Given the description of an element on the screen output the (x, y) to click on. 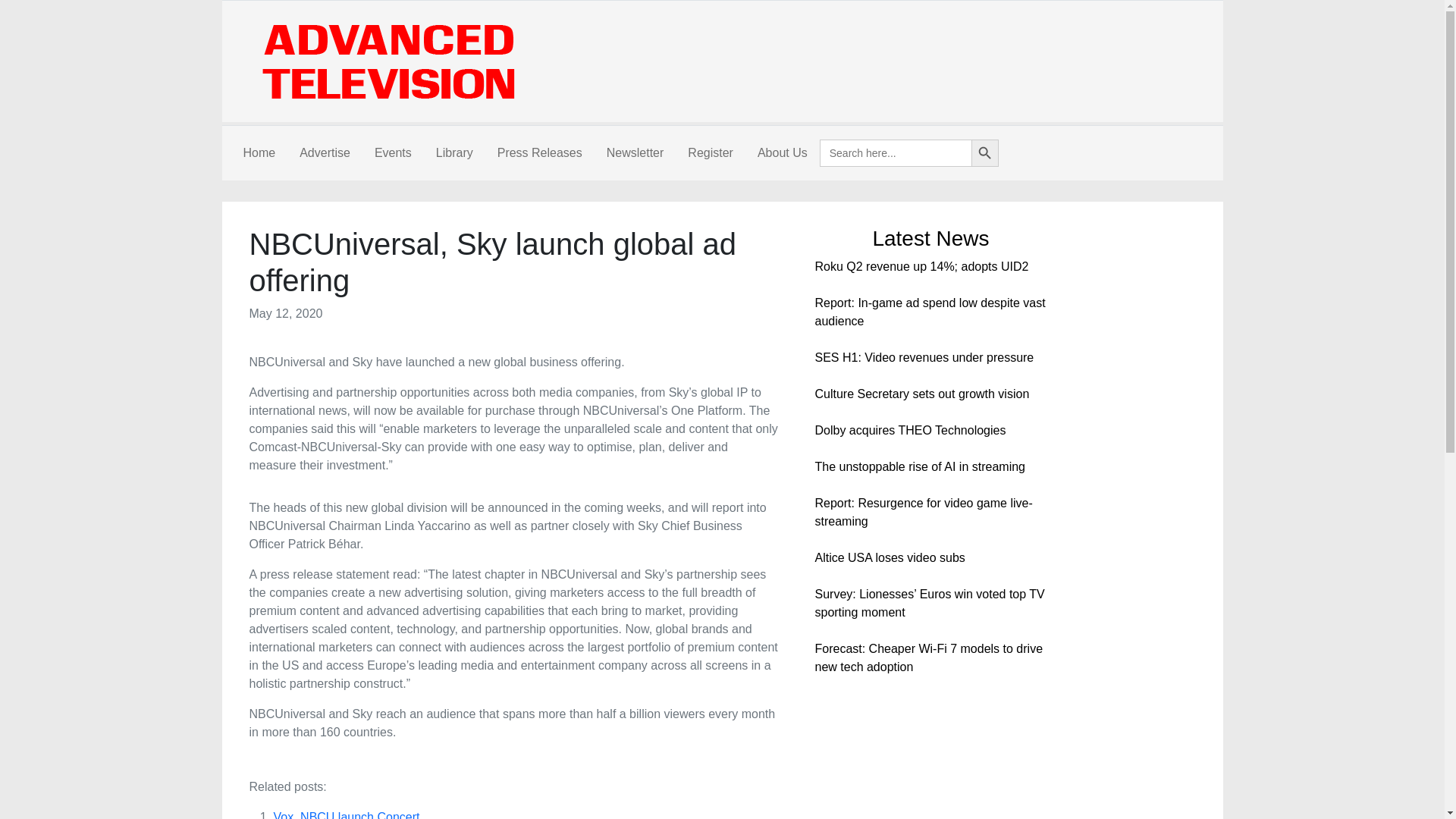
Report: In-game ad spend low despite vast audience (929, 311)
Vox, NBCU launch Concert (346, 814)
Home (258, 153)
Newsletter (635, 153)
Culture Secretary sets out growth vision (921, 393)
Press Releases (539, 153)
Register (710, 153)
The unstoppable rise of AI in streaming (919, 466)
SES H1: Video revenues under pressure (923, 357)
Vox, NBCU launch Concert (346, 814)
About Us (782, 153)
Advertise (324, 153)
Report: Resurgence for video game live-streaming (922, 511)
Forecast: Cheaper Wi-Fi 7 models to drive new tech adoption (927, 657)
Dolby acquires THEO Technologies (909, 430)
